Given the description of an element on the screen output the (x, y) to click on. 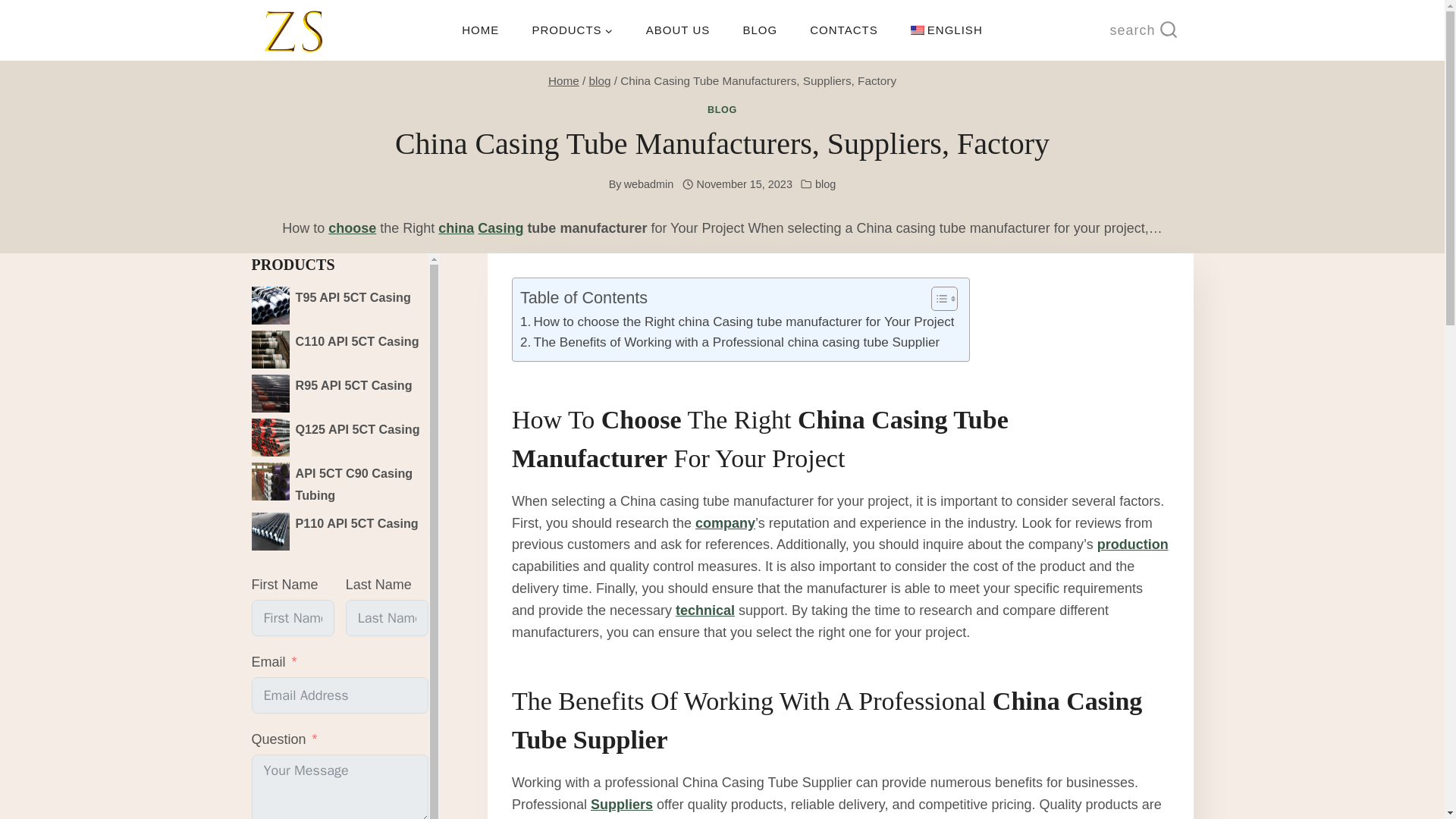
ENGLISH (945, 29)
choose (352, 227)
BLOG (721, 109)
china (456, 227)
blog (599, 80)
CONTACTS (844, 29)
BLOG (759, 29)
ABOUT US (677, 29)
HOME (480, 29)
blog (825, 184)
